Given the description of an element on the screen output the (x, y) to click on. 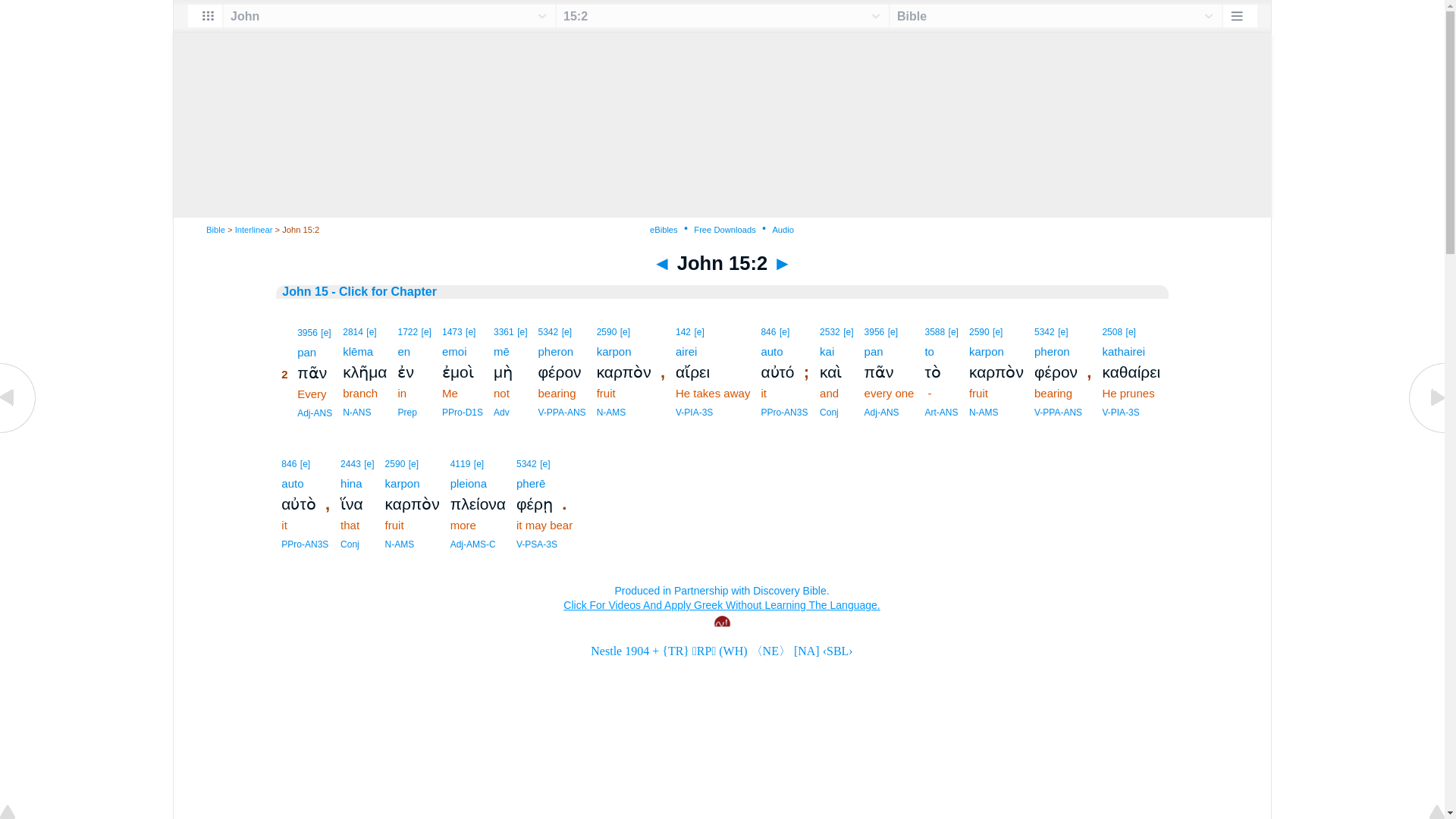
Prep (406, 412)
PPro-D1S (462, 412)
N-AMS (611, 412)
3956 (307, 332)
Englishman's Greek Concordance (370, 331)
Englishman's Greek Concordance (470, 331)
Englishman's Greek Concordance (325, 332)
Interlinear (253, 229)
